Given the description of an element on the screen output the (x, y) to click on. 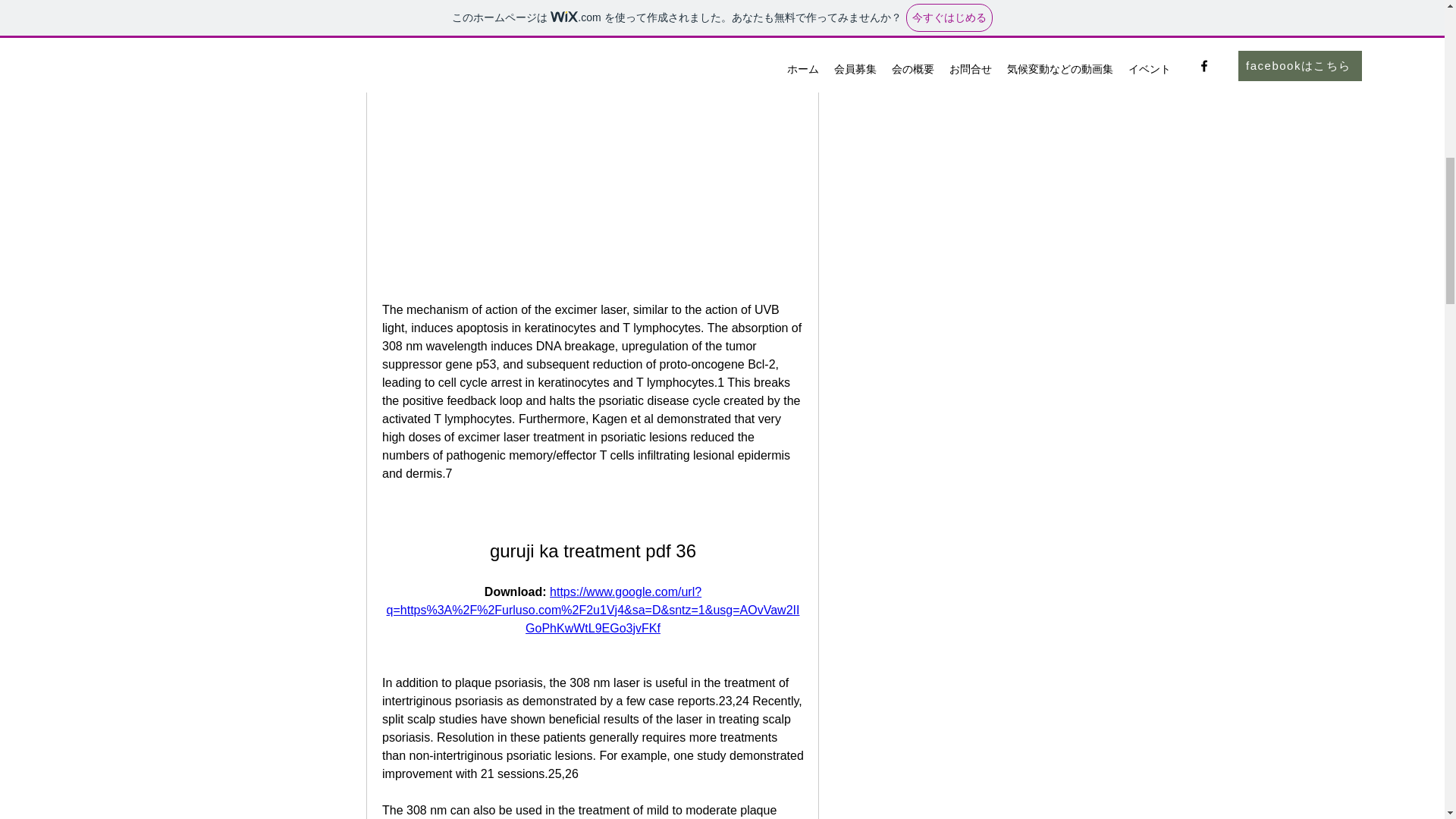
hp.Lidia047199 (863, 1)
fashionluxurybazaar1004 (863, 24)
fashionluxurybazaar1004 (954, 22)
